Given the description of an element on the screen output the (x, y) to click on. 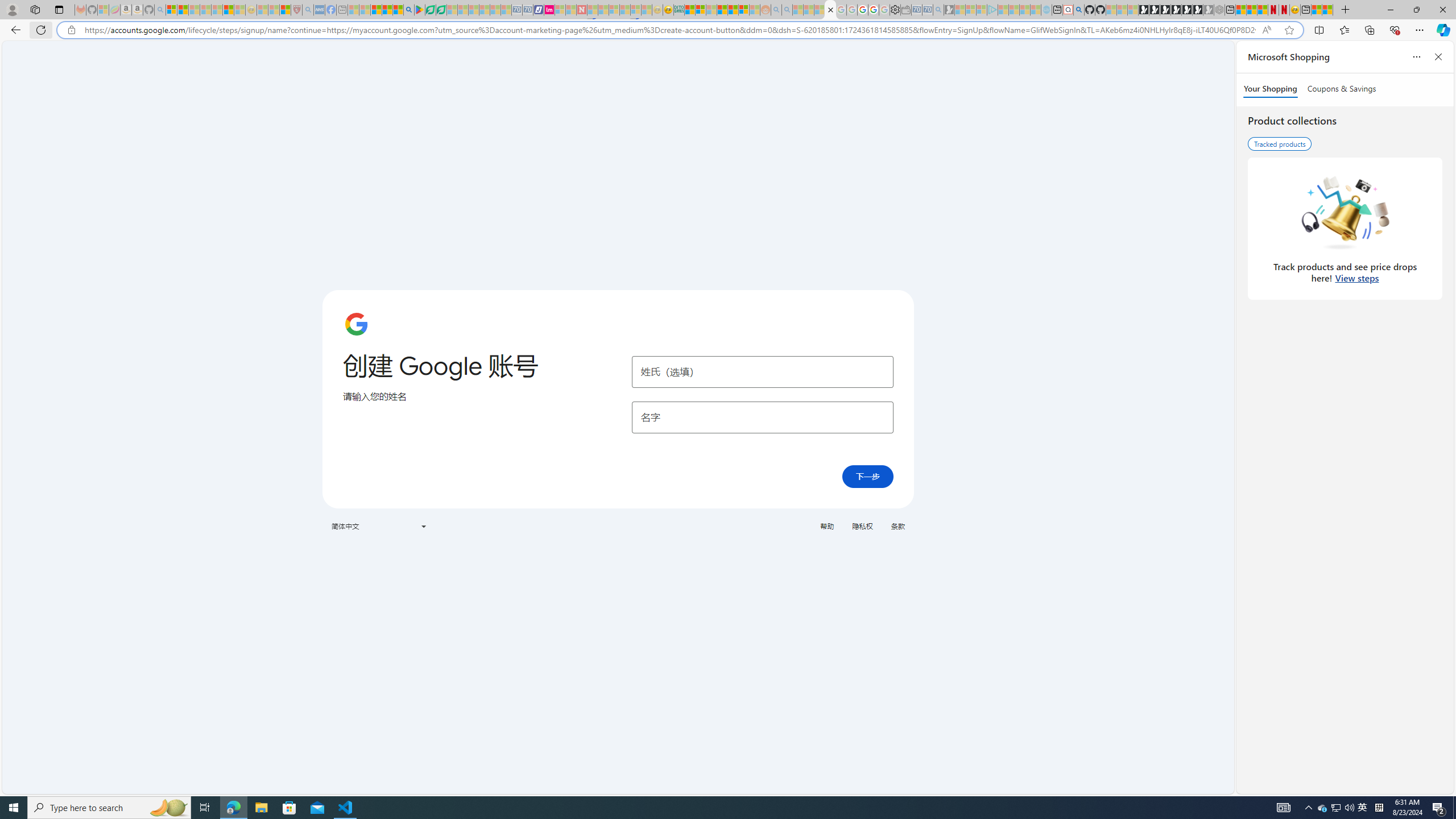
14 Common Myths Debunked By Scientific Facts - Sleeping (602, 9)
